Given the description of an element on the screen output the (x, y) to click on. 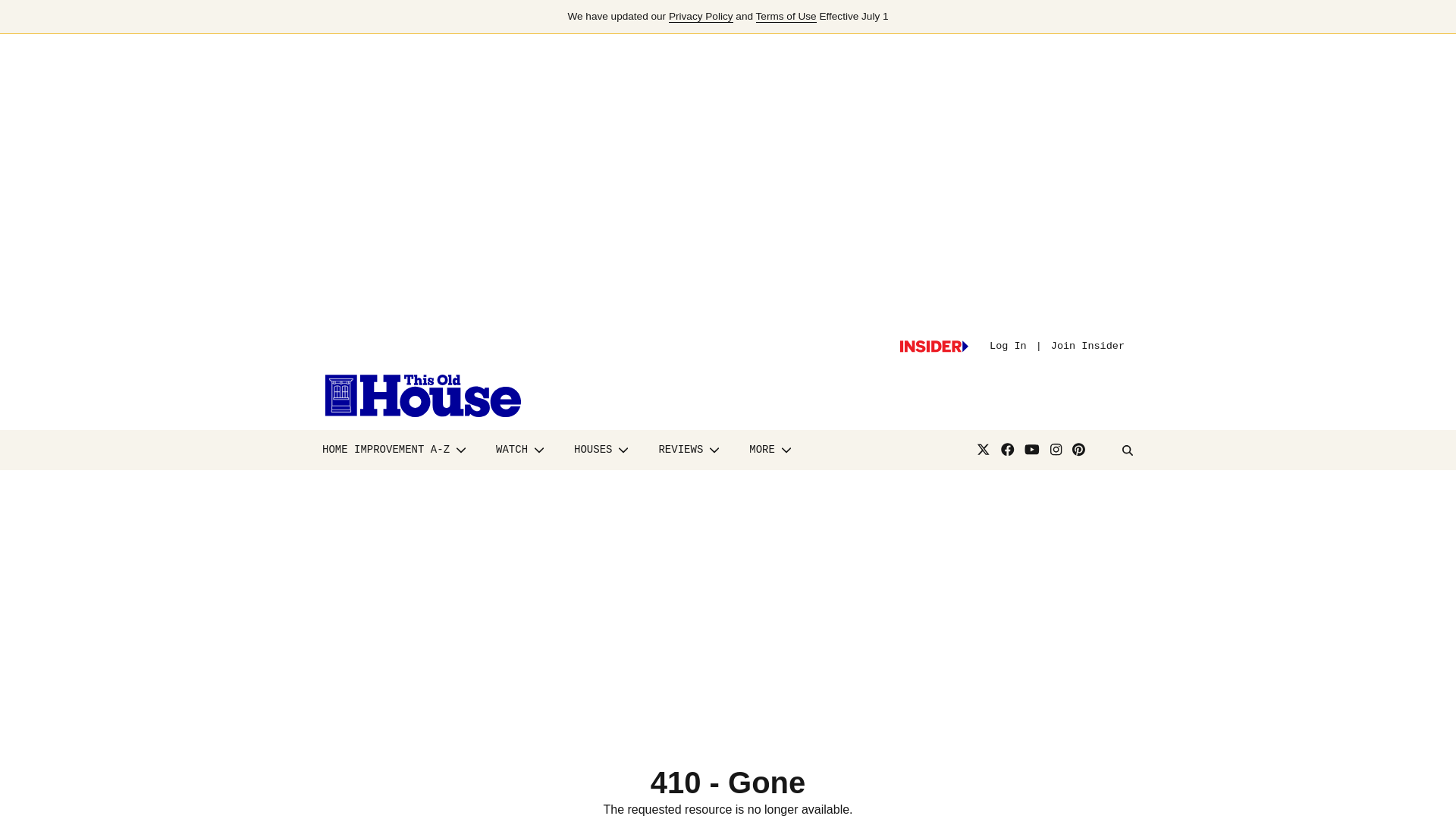
Terms of Use (785, 16)
Privacy Policy (700, 16)
Join Insider (1087, 346)
Log in or sign up (933, 346)
Log In (1008, 346)
